Given the description of an element on the screen output the (x, y) to click on. 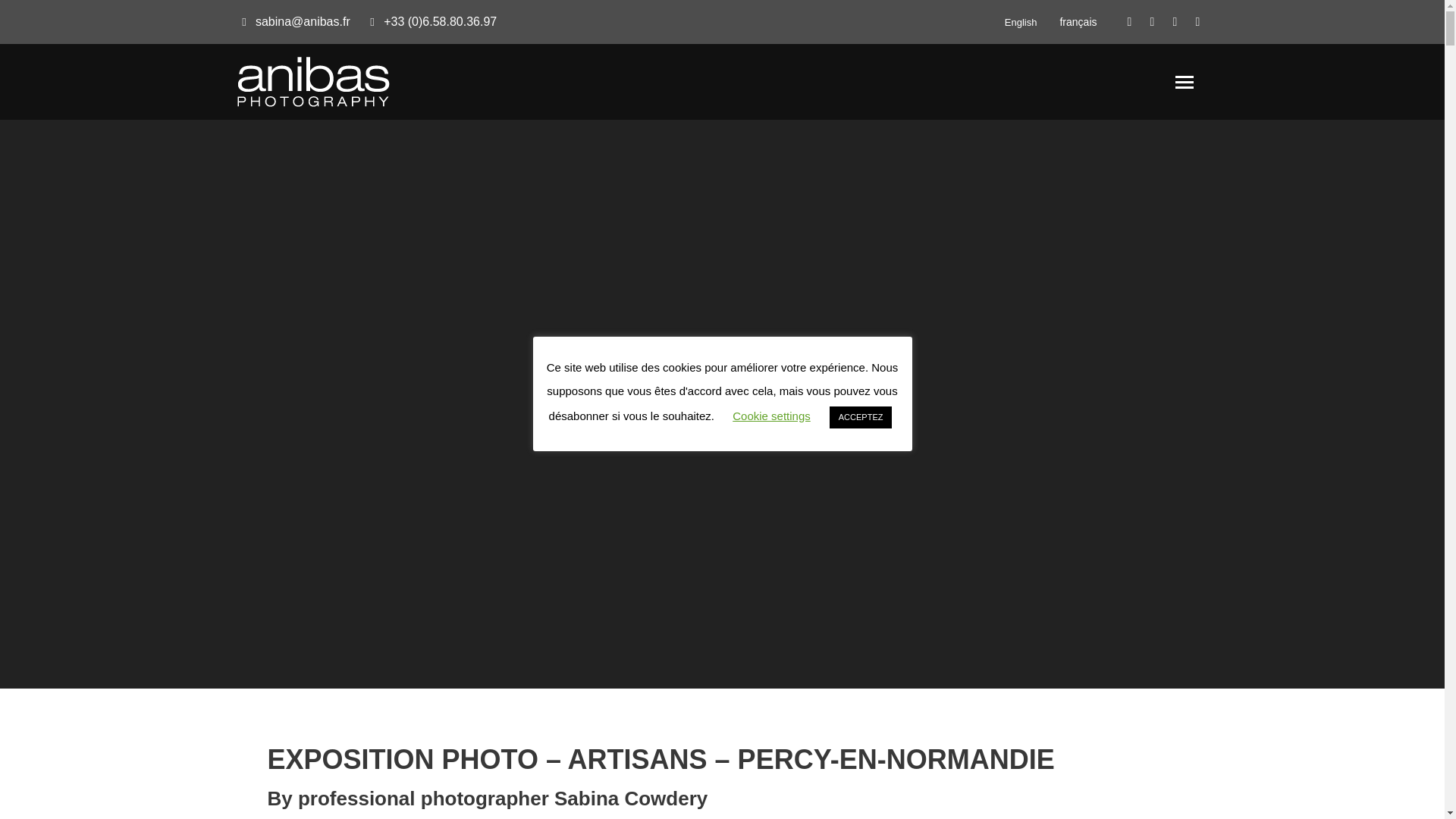
Vimeo page opens in new window (1198, 21)
Linkedin page opens in new window (1151, 21)
Facebook page opens in new window (1129, 21)
Facebook page opens in new window (1129, 21)
English (1020, 21)
Instagram page opens in new window (1175, 21)
Instagram page opens in new window (1175, 21)
Linkedin page opens in new window (1151, 21)
Vimeo page opens in new window (1198, 21)
